Given the description of an element on the screen output the (x, y) to click on. 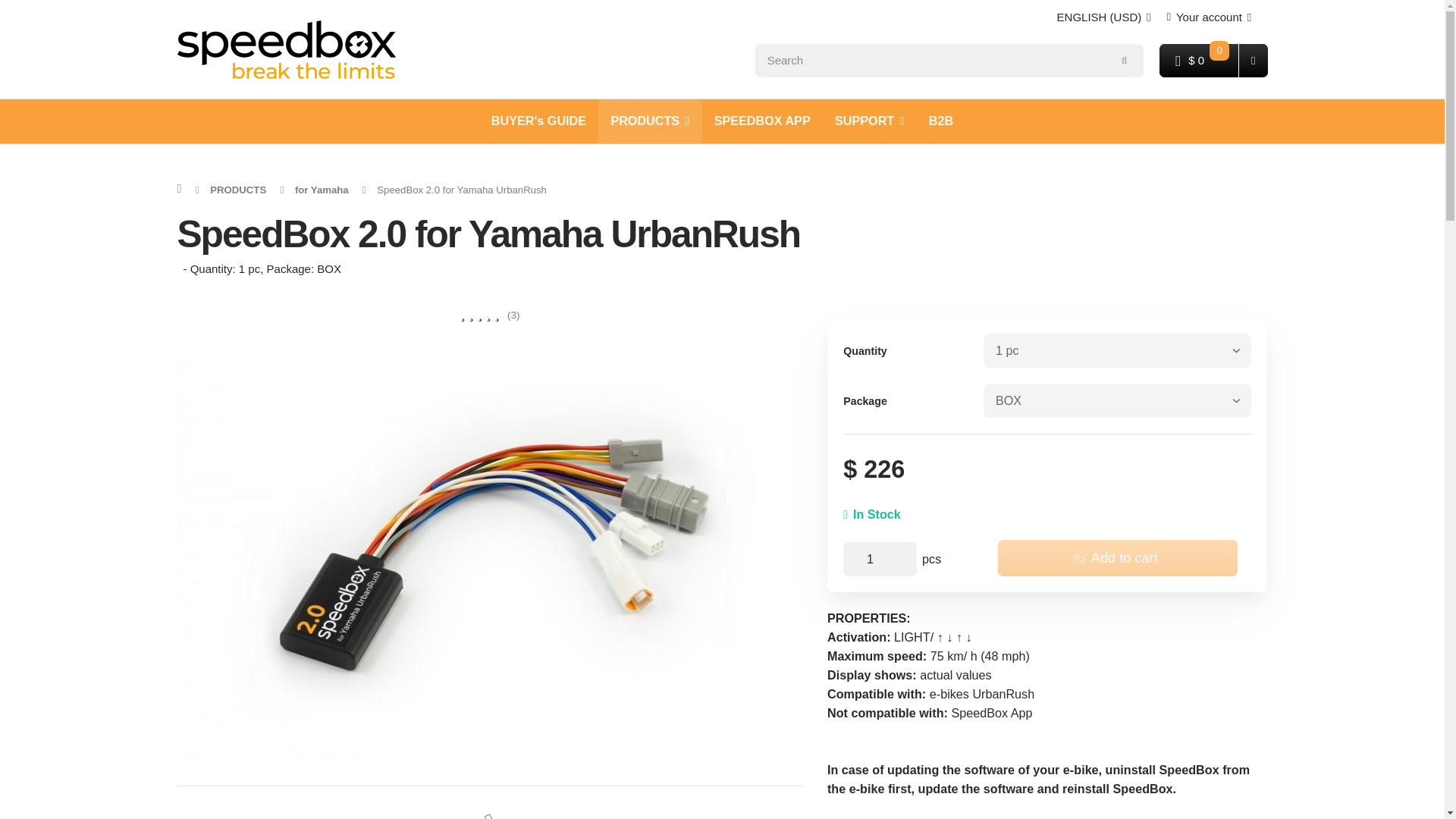
Your account (1208, 17)
1 (880, 559)
Home (286, 49)
